Given the description of an element on the screen output the (x, y) to click on. 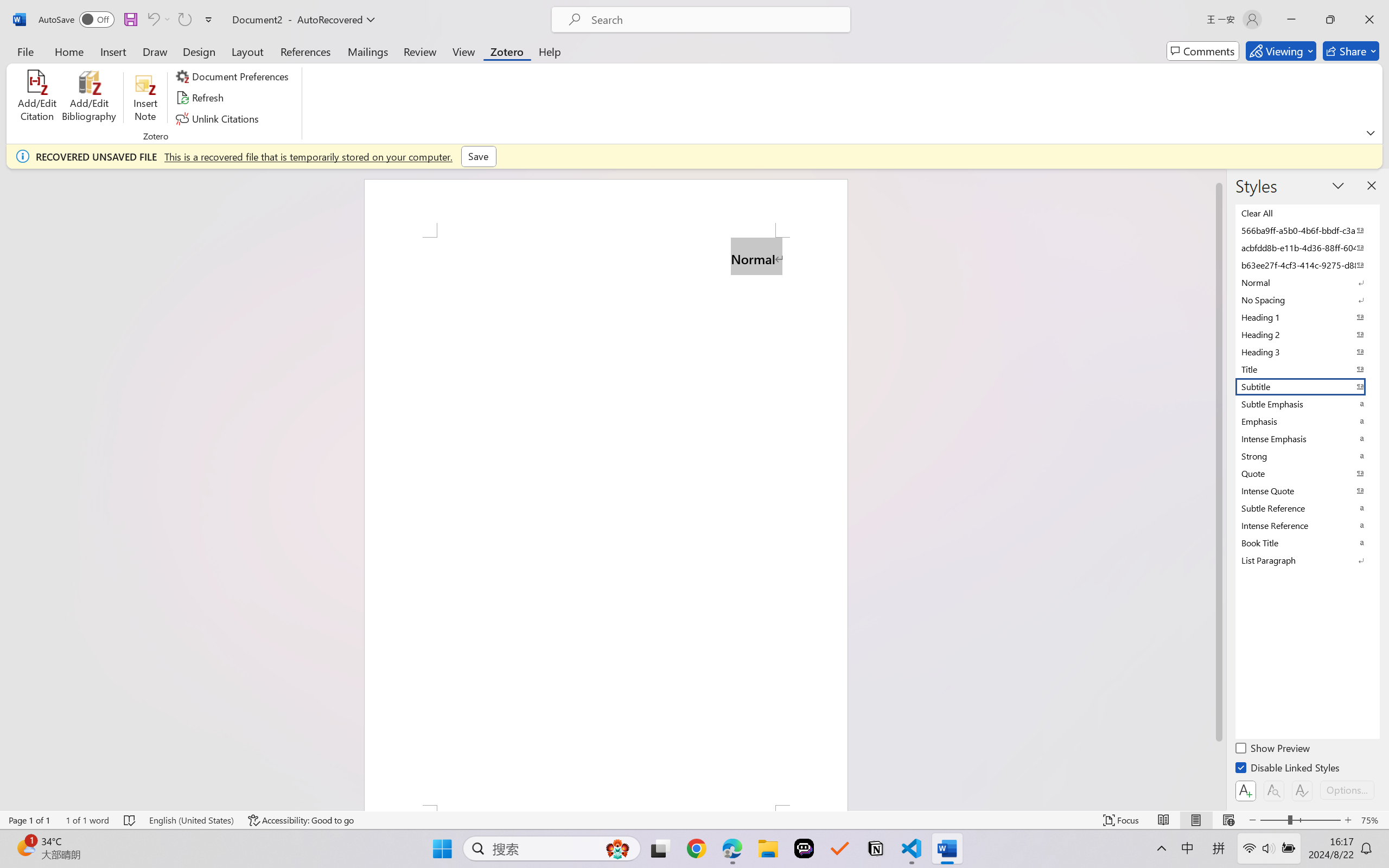
Subtle Emphasis (1306, 404)
Can't Repeat (184, 19)
Task Pane Options (1338, 185)
Class: MsoCommandBar (694, 819)
Help (549, 51)
Show Preview (1273, 749)
Heading 2 (1306, 334)
